Given the description of an element on the screen output the (x, y) to click on. 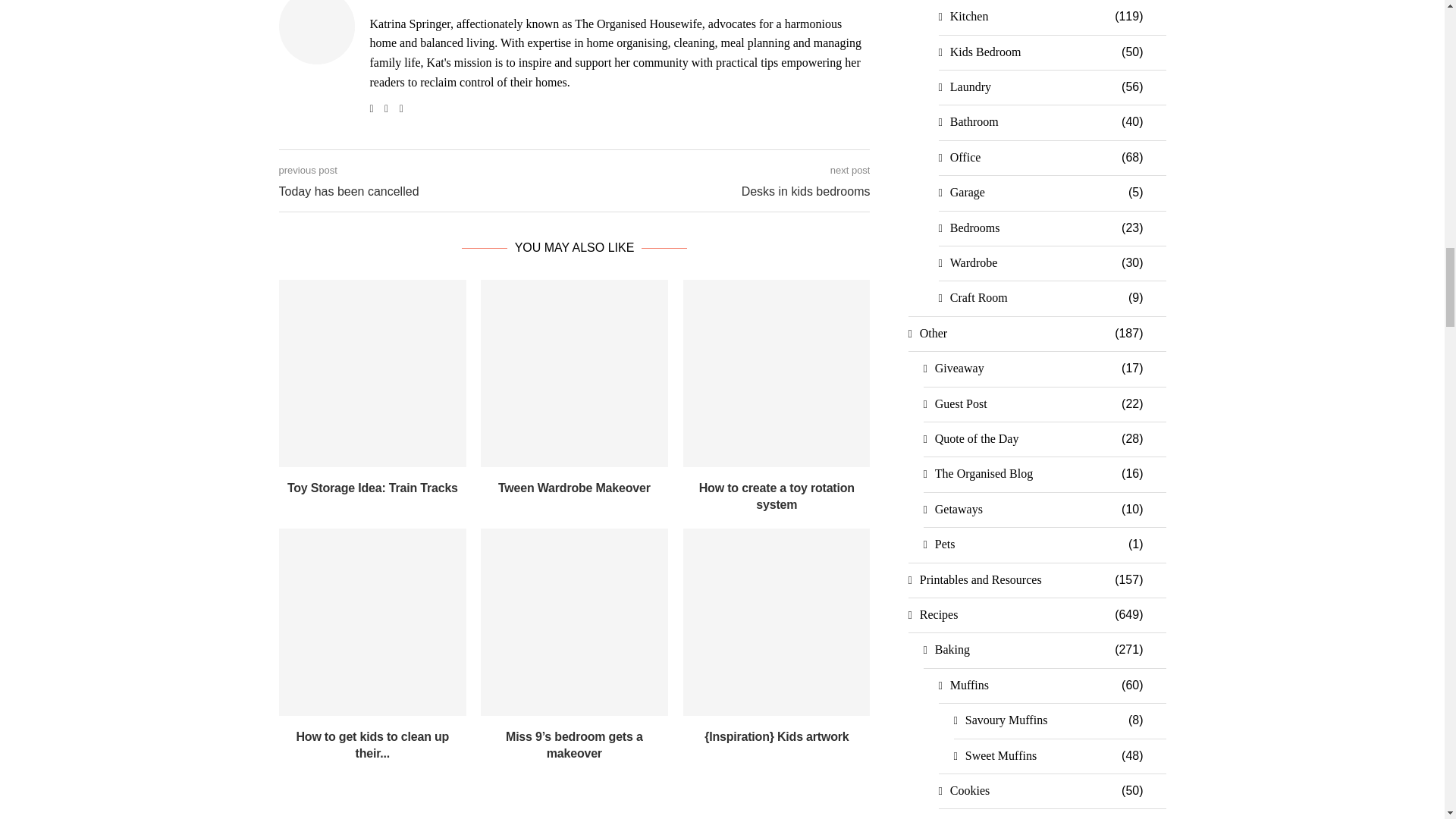
Tween Wardrobe Makeover (574, 373)
Toy Storage Idea: Train Tracks (372, 373)
How to create a toy rotation system (776, 373)
How to get kids to clean up their toys (372, 621)
Author Katrina - The Organised Housewife (474, 1)
